Given the description of an element on the screen output the (x, y) to click on. 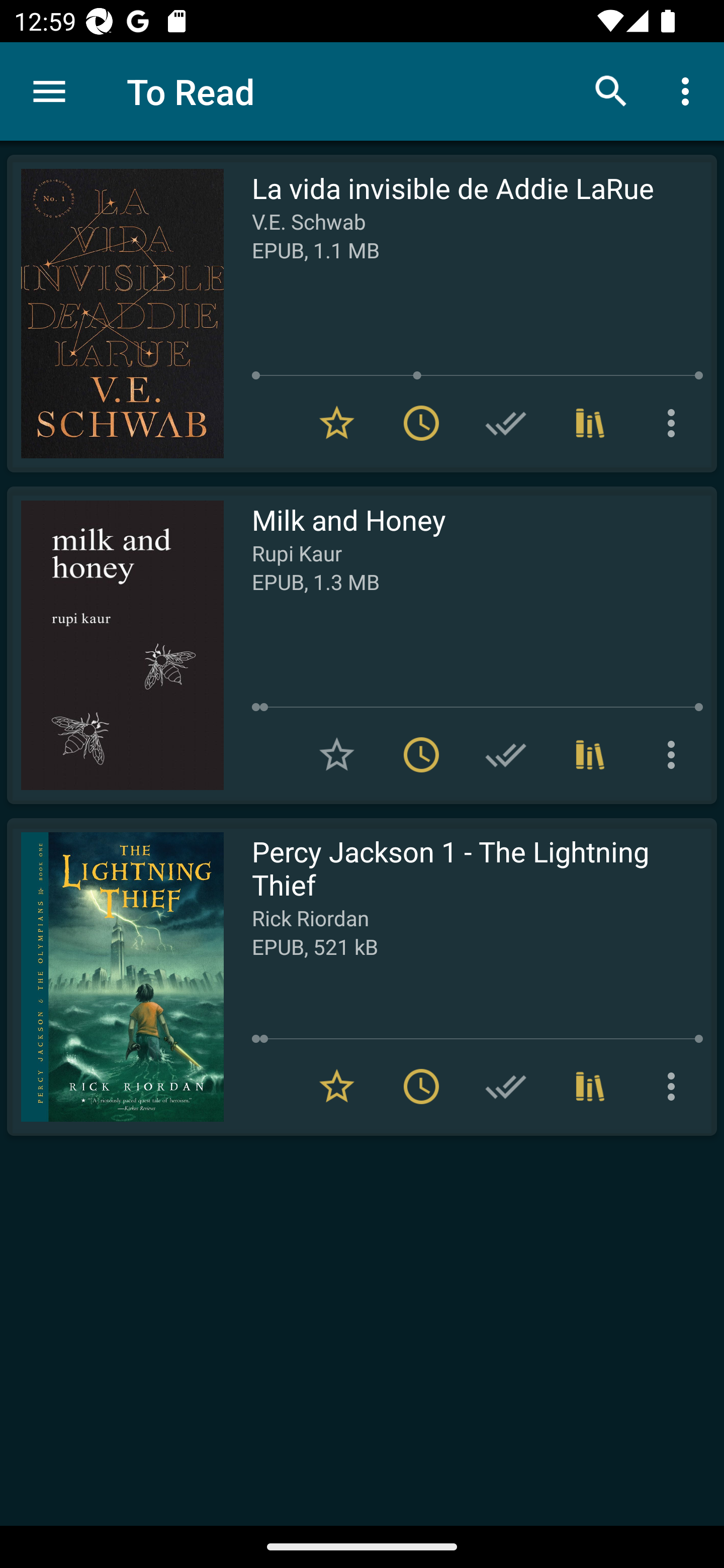
Menu (49, 91)
Search books & documents (611, 90)
More options (688, 90)
Read La vida invisible de Addie LaRue (115, 313)
Remove from Favorites (336, 423)
Remove from To read (421, 423)
Add to Have read (505, 423)
Collections (1) (590, 423)
More options (674, 423)
Read Milk and Honey (115, 645)
Add to Favorites (336, 753)
Remove from To read (421, 753)
Add to Have read (505, 753)
Collections (3) (590, 753)
More options (674, 753)
Read Percy Jackson 1 - The Lightning Thief (115, 976)
Remove from Favorites (336, 1086)
Remove from To read (421, 1086)
Add to Have read (505, 1086)
Collections (1) (590, 1086)
More options (674, 1086)
